Given the description of an element on the screen output the (x, y) to click on. 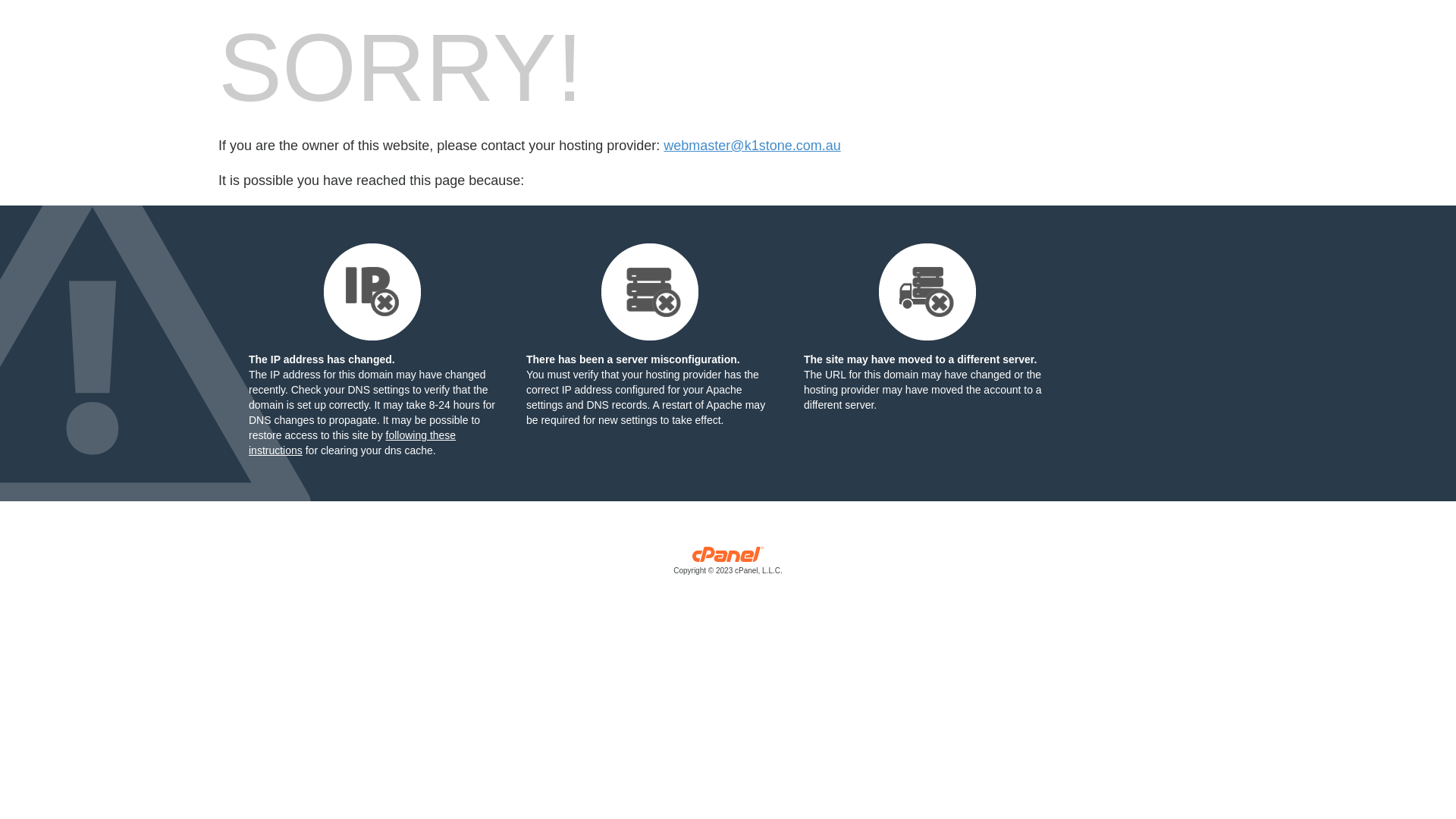
following these instructions Element type: text (351, 442)
webmaster@k1stone.com.au Element type: text (751, 145)
